Given the description of an element on the screen output the (x, y) to click on. 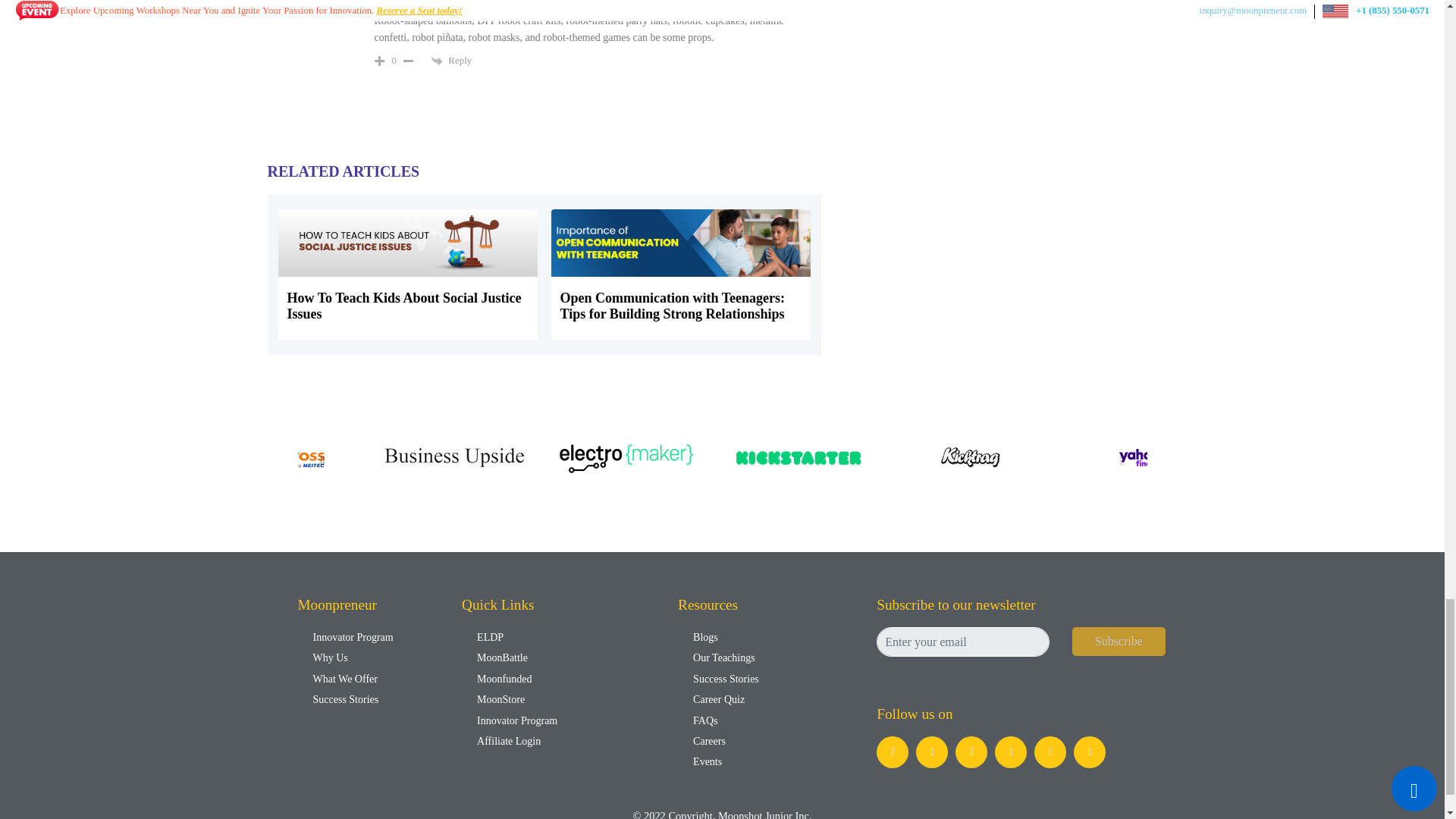
Subscribe (1118, 641)
